Given the description of an element on the screen output the (x, y) to click on. 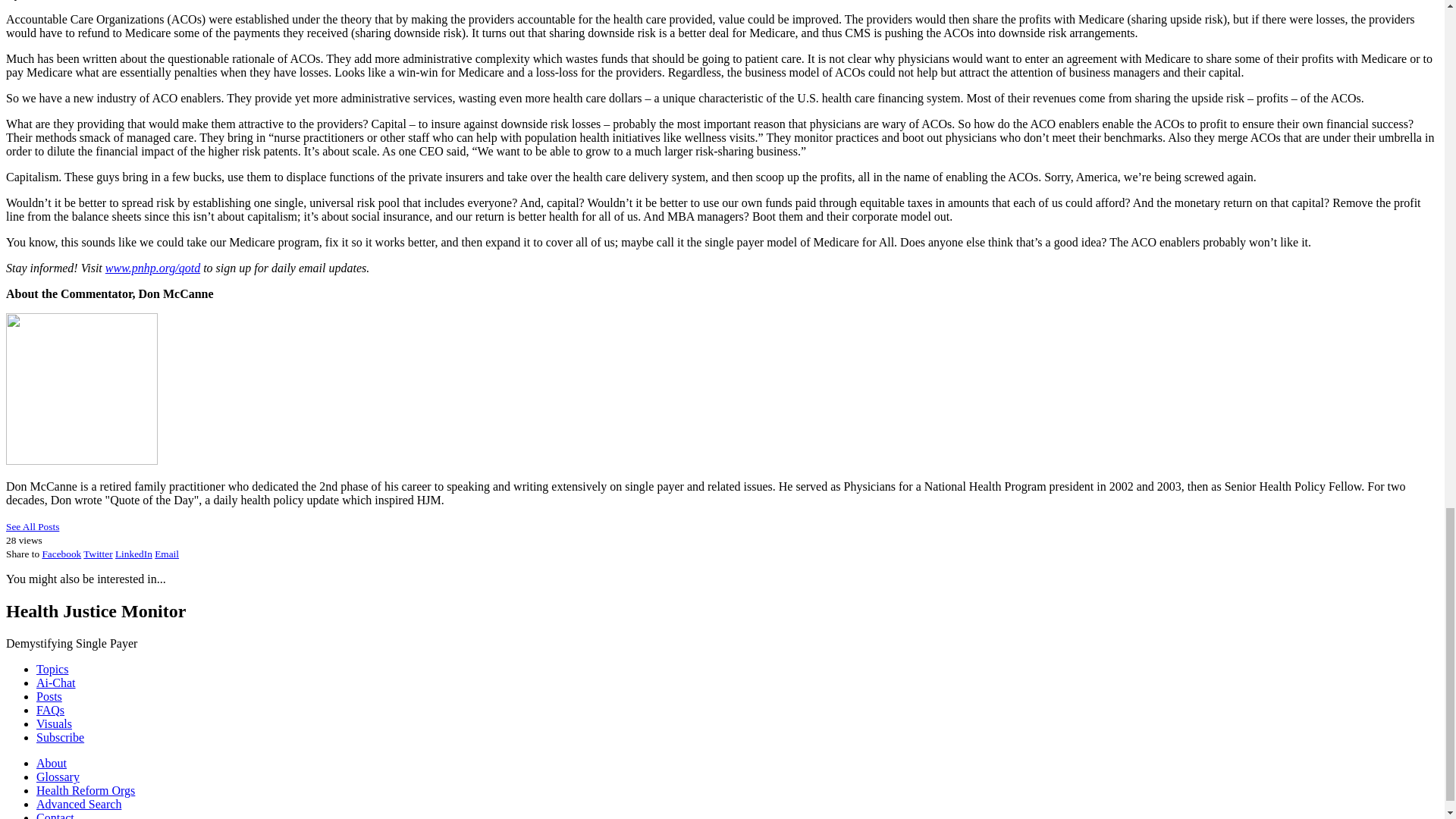
Posts (49, 696)
Visuals (53, 723)
See All Posts (32, 526)
FAQs (50, 709)
Email (166, 553)
Facebook (61, 553)
Advanced Search (78, 803)
Topics (52, 668)
LinkedIn (133, 553)
Glossary (58, 776)
